Given the description of an element on the screen output the (x, y) to click on. 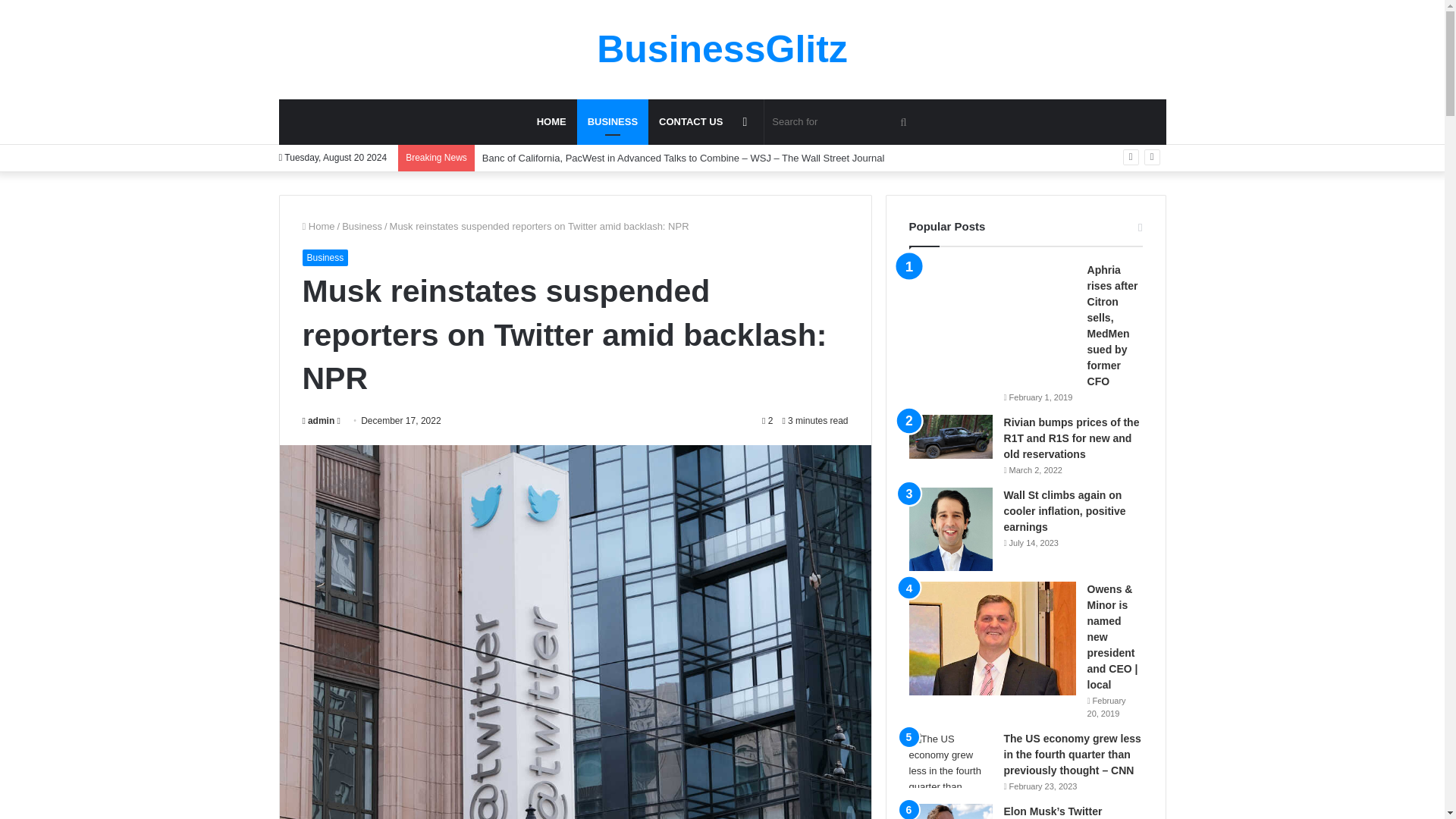
CONTACT US (690, 121)
Home (317, 225)
HOME (550, 121)
admin (317, 420)
BusinessGlitz (721, 48)
BUSINESS (611, 121)
admin (317, 420)
Business (361, 225)
Business (611, 121)
